Given the description of an element on the screen output the (x, y) to click on. 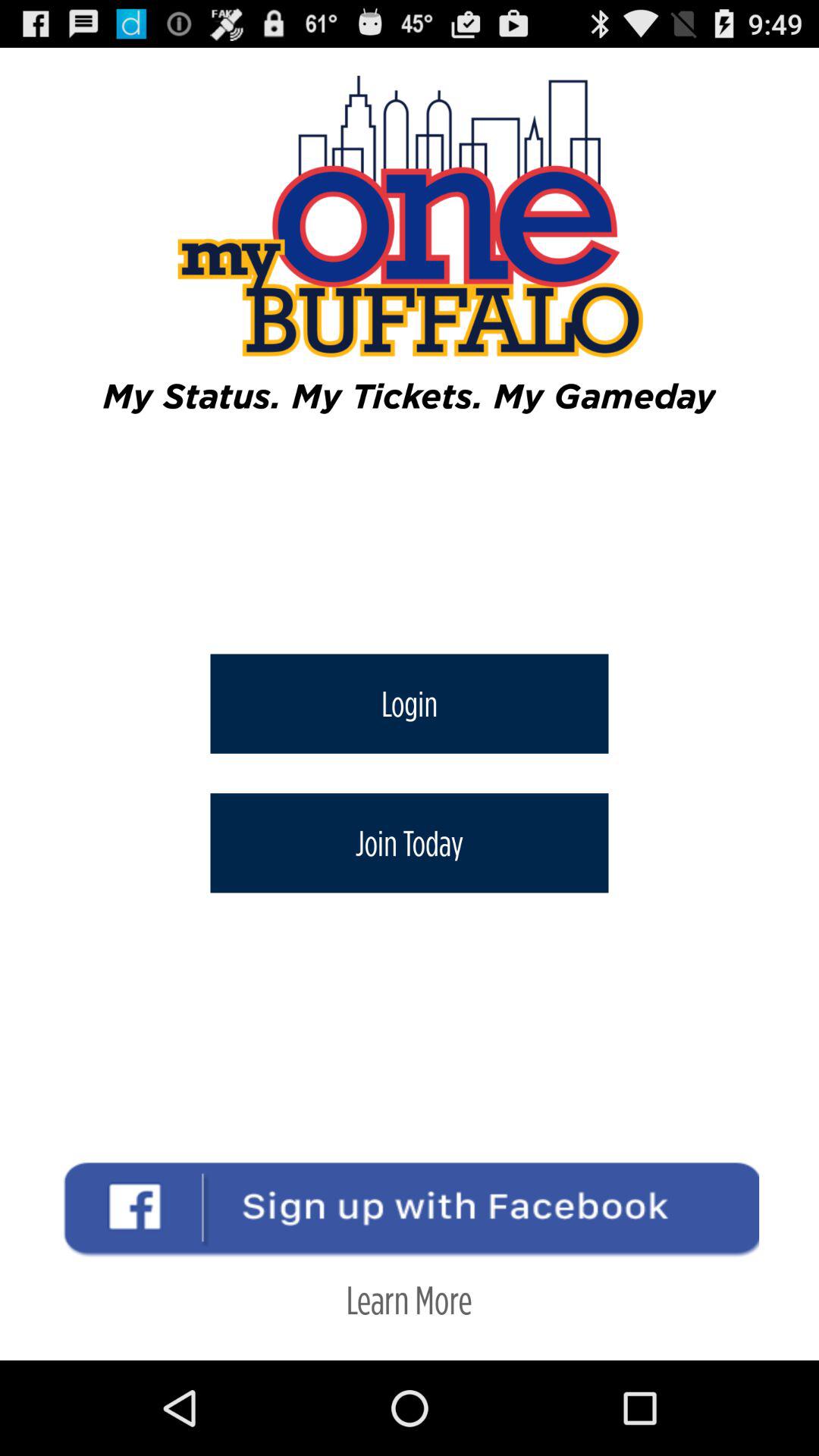
launch the login item (409, 703)
